Given the description of an element on the screen output the (x, y) to click on. 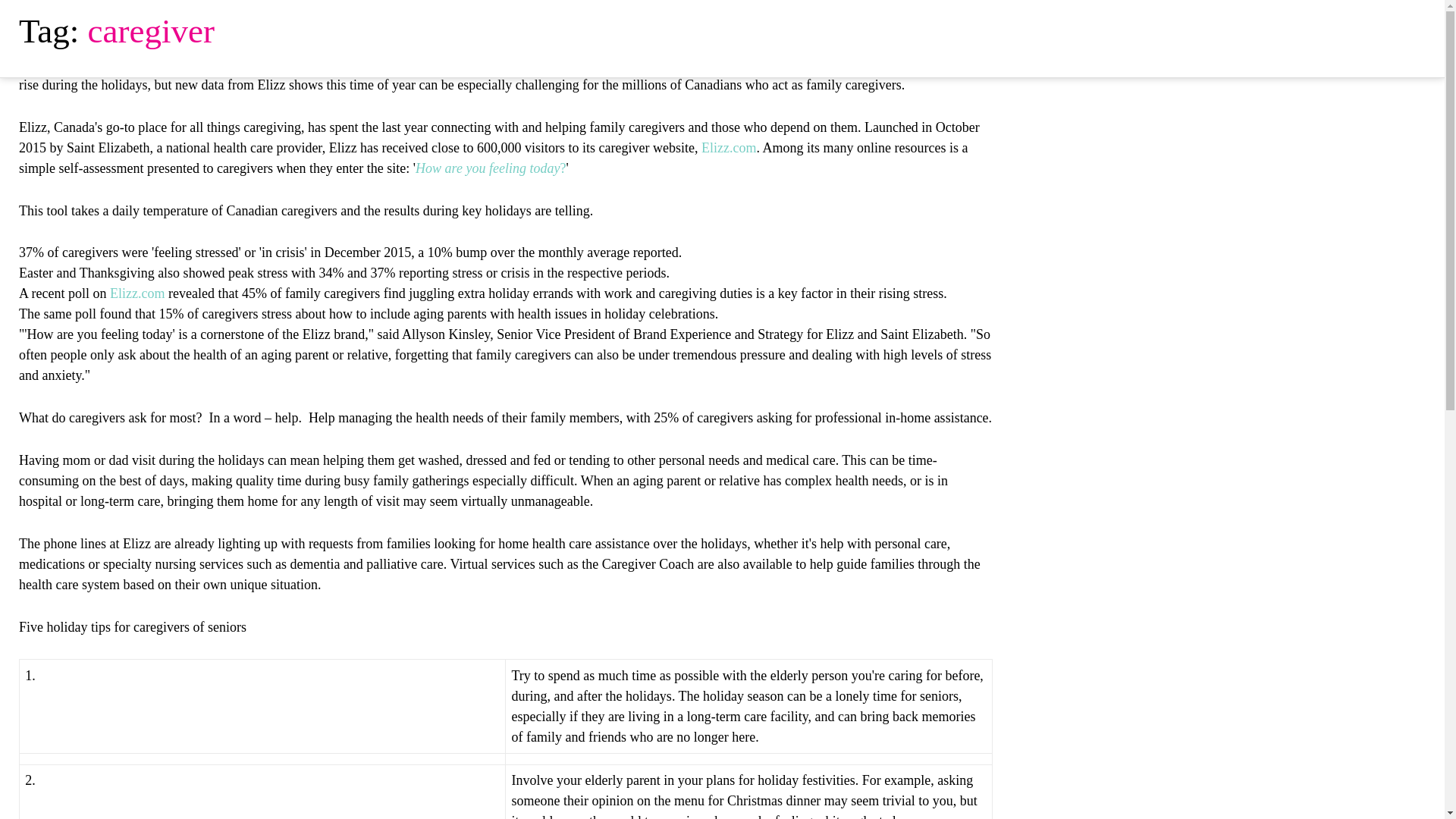
Elizz.com (137, 293)
How are you feeling today? (490, 168)
TRAINING PROGRAMS (930, 29)
VLOG (1181, 29)
CONTACT (1248, 29)
ABOUT (821, 29)
PORTFOLIO (1054, 29)
HOME (761, 29)
BLOG (1127, 29)
Elizz.com (728, 147)
